Given the description of an element on the screen output the (x, y) to click on. 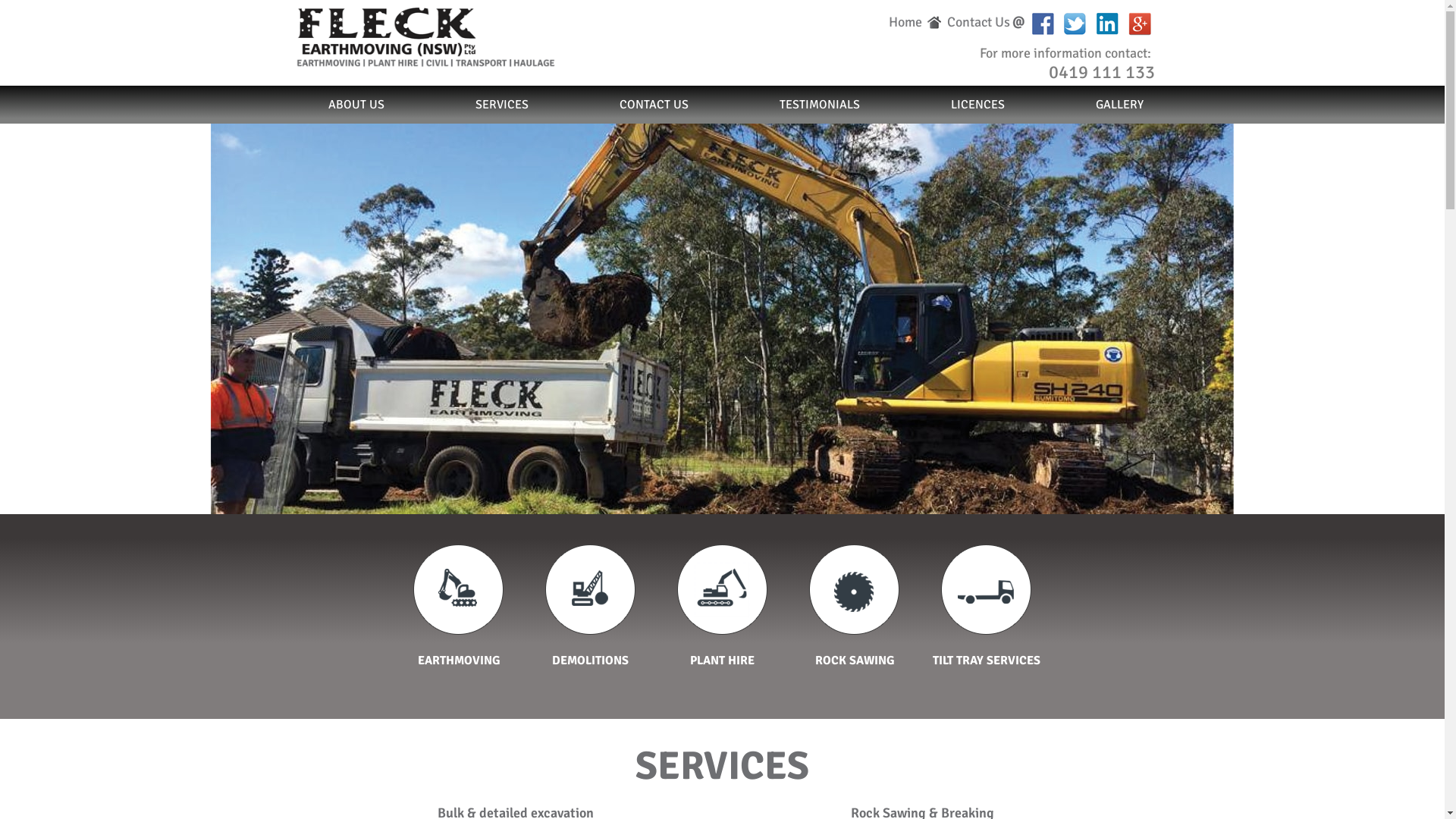
CONTACT US Element type: text (653, 104)
0419 111 133 Element type: text (1101, 71)
GALLERY Element type: text (1095, 104)
Home Element type: text (905, 21)
TESTIMONIALS Element type: text (819, 104)
Contact Us Element type: text (977, 21)
SERVICES Element type: text (501, 104)
LICENCES Element type: text (977, 104)
ABOUT US Element type: text (378, 104)
